Given the description of an element on the screen output the (x, y) to click on. 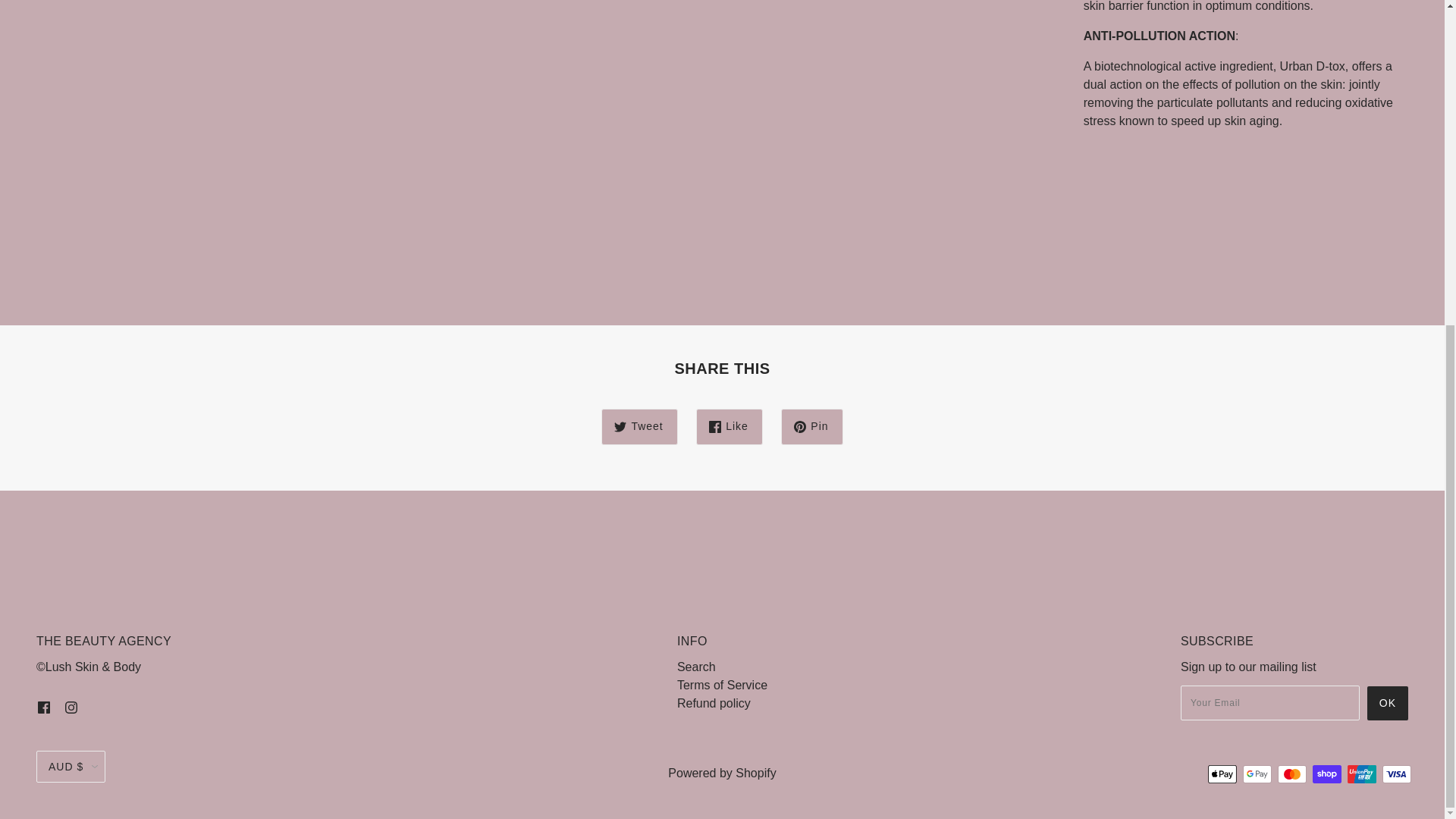
Google Pay (1257, 773)
Terms of Service (722, 684)
Visa (1395, 773)
Ok (1387, 703)
Mastercard (1292, 773)
Refund policy (714, 703)
Apple Pay (1222, 773)
Search (696, 666)
Shop Pay (1326, 773)
Union Pay (1361, 773)
